Given the description of an element on the screen output the (x, y) to click on. 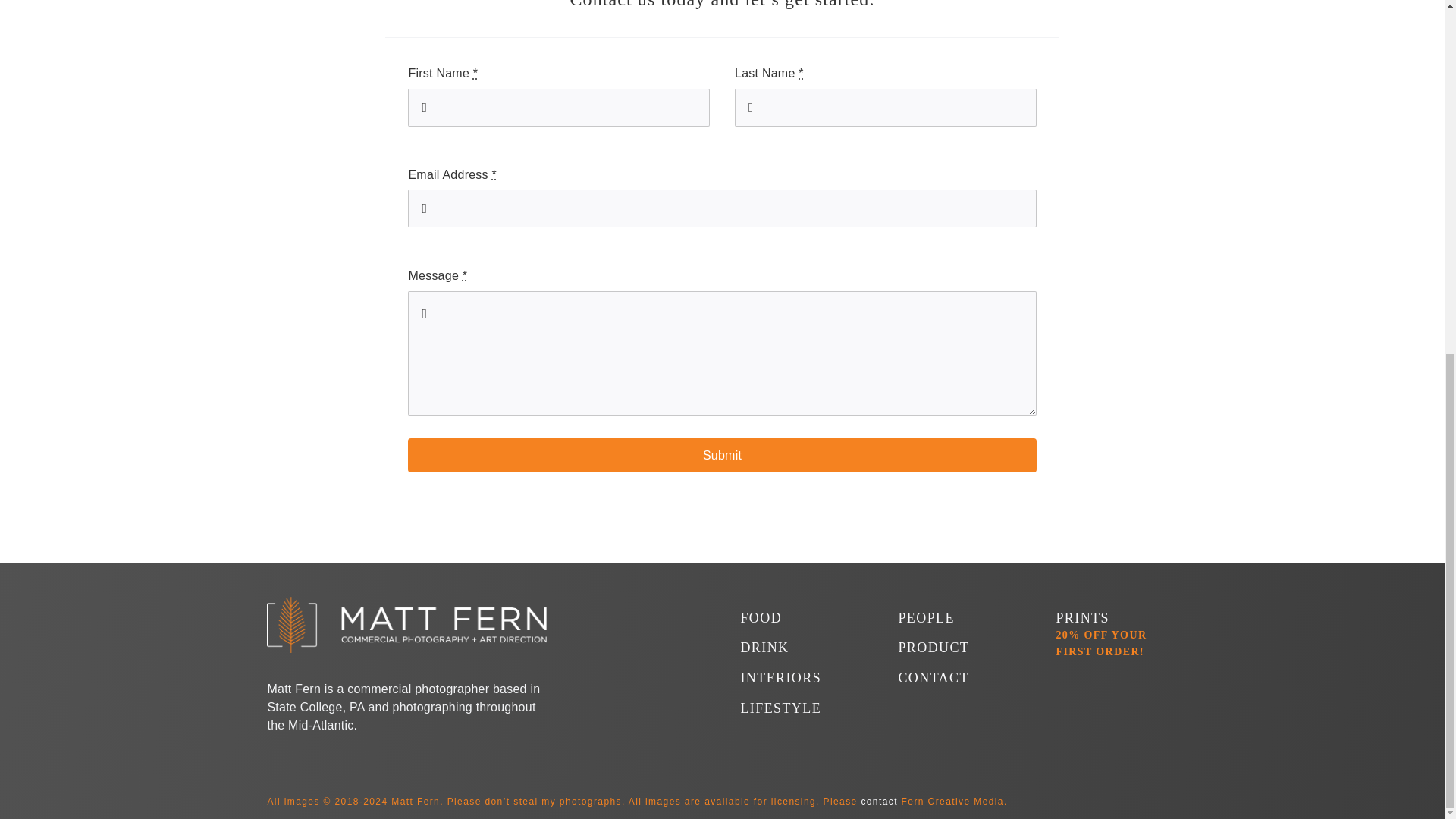
PRINTS (1081, 617)
PEOPLE (925, 617)
DRINK (764, 647)
PRODUCT (933, 647)
INTERIORS (780, 677)
LIFESTYLE (780, 708)
CONTACT (933, 677)
FOOD (760, 617)
contact (880, 801)
Submit (721, 455)
